Given the description of an element on the screen output the (x, y) to click on. 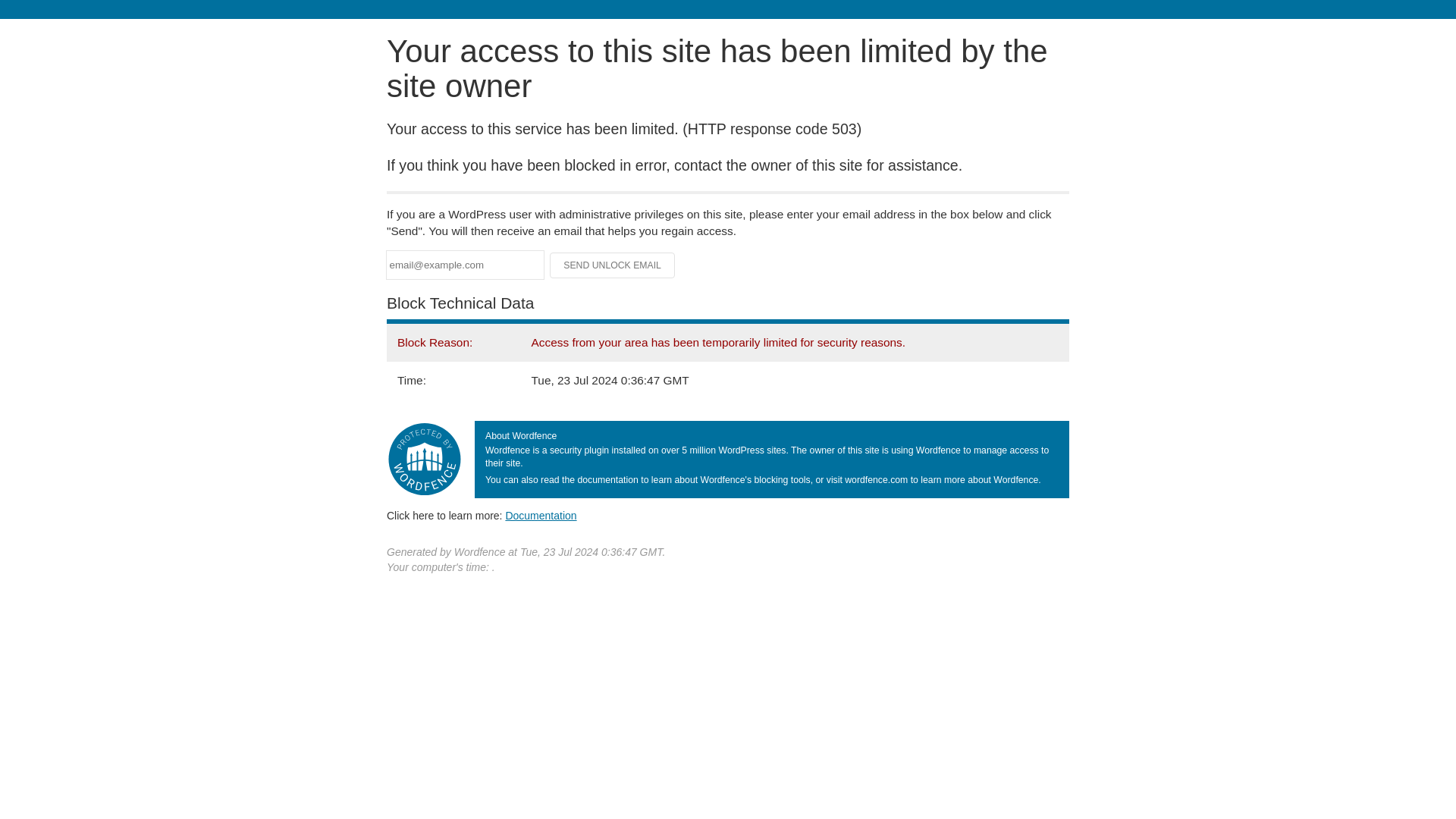
Send Unlock Email (612, 265)
Documentation (540, 515)
Send Unlock Email (612, 265)
